Given the description of an element on the screen output the (x, y) to click on. 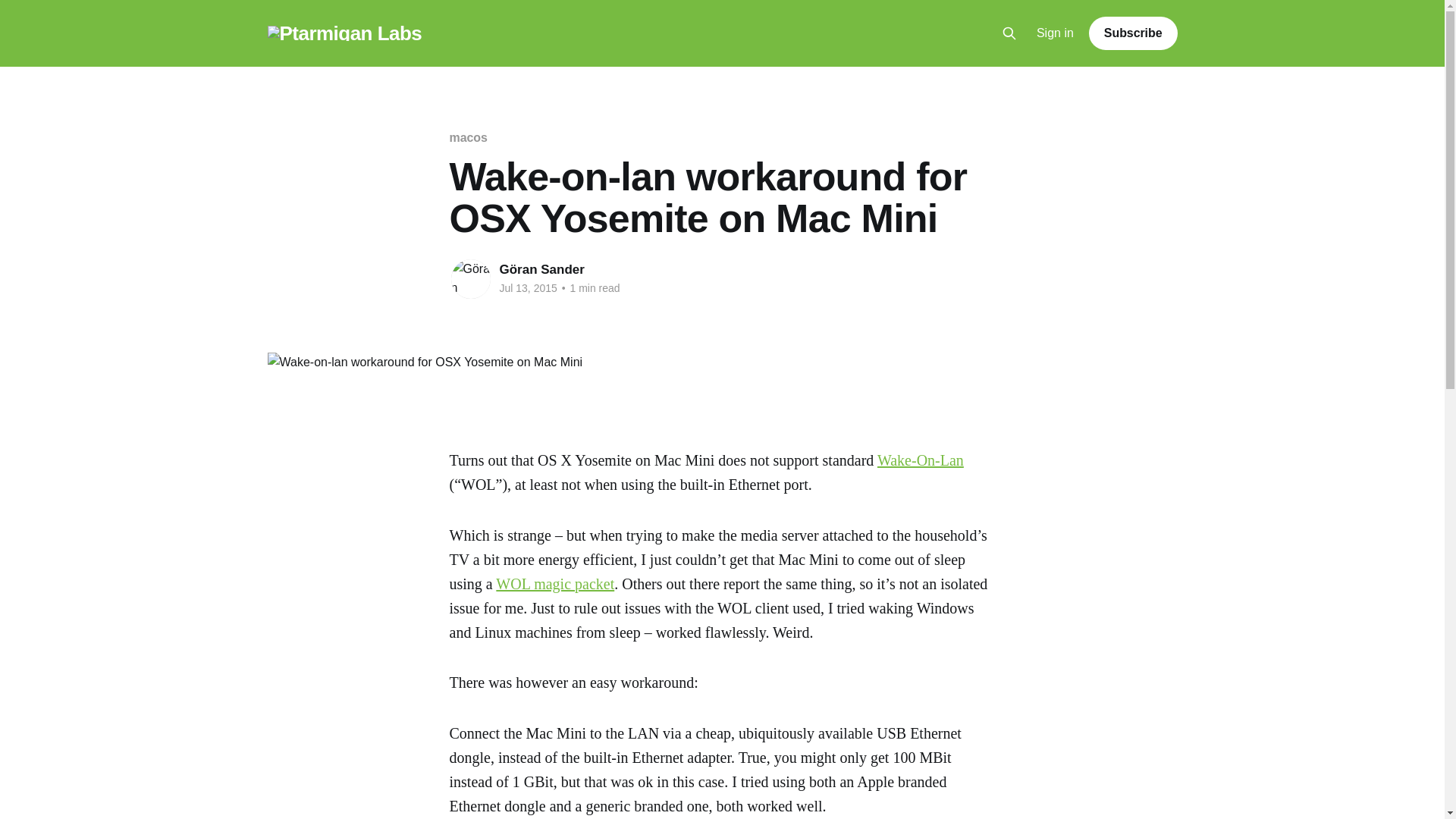
macos (467, 137)
Subscribe (1133, 32)
Sign in (1055, 33)
WOL magic packet (555, 583)
Wake-On-Lan (920, 460)
